Given the description of an element on the screen output the (x, y) to click on. 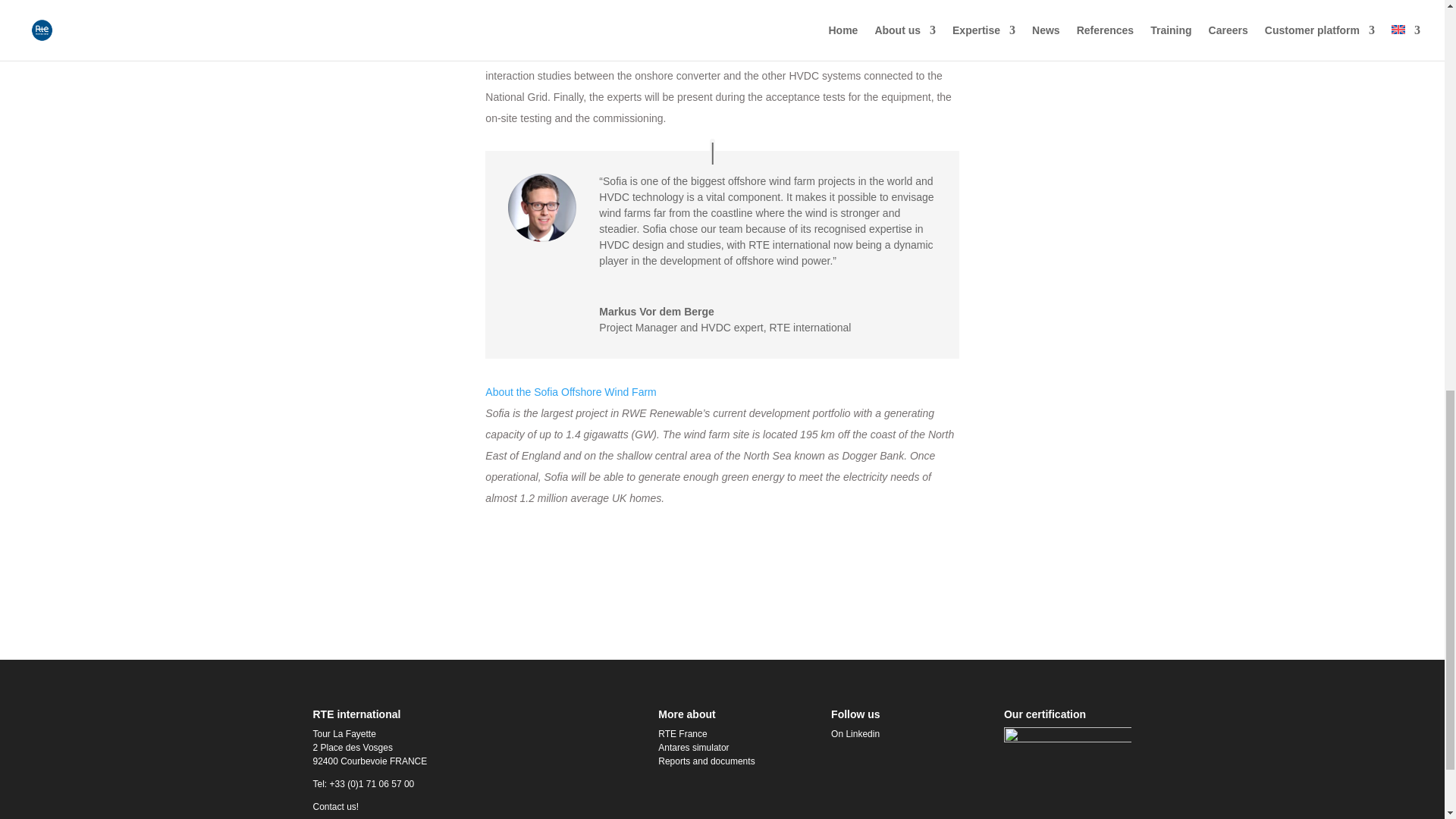
Contact (335, 806)
